Given the description of an element on the screen output the (x, y) to click on. 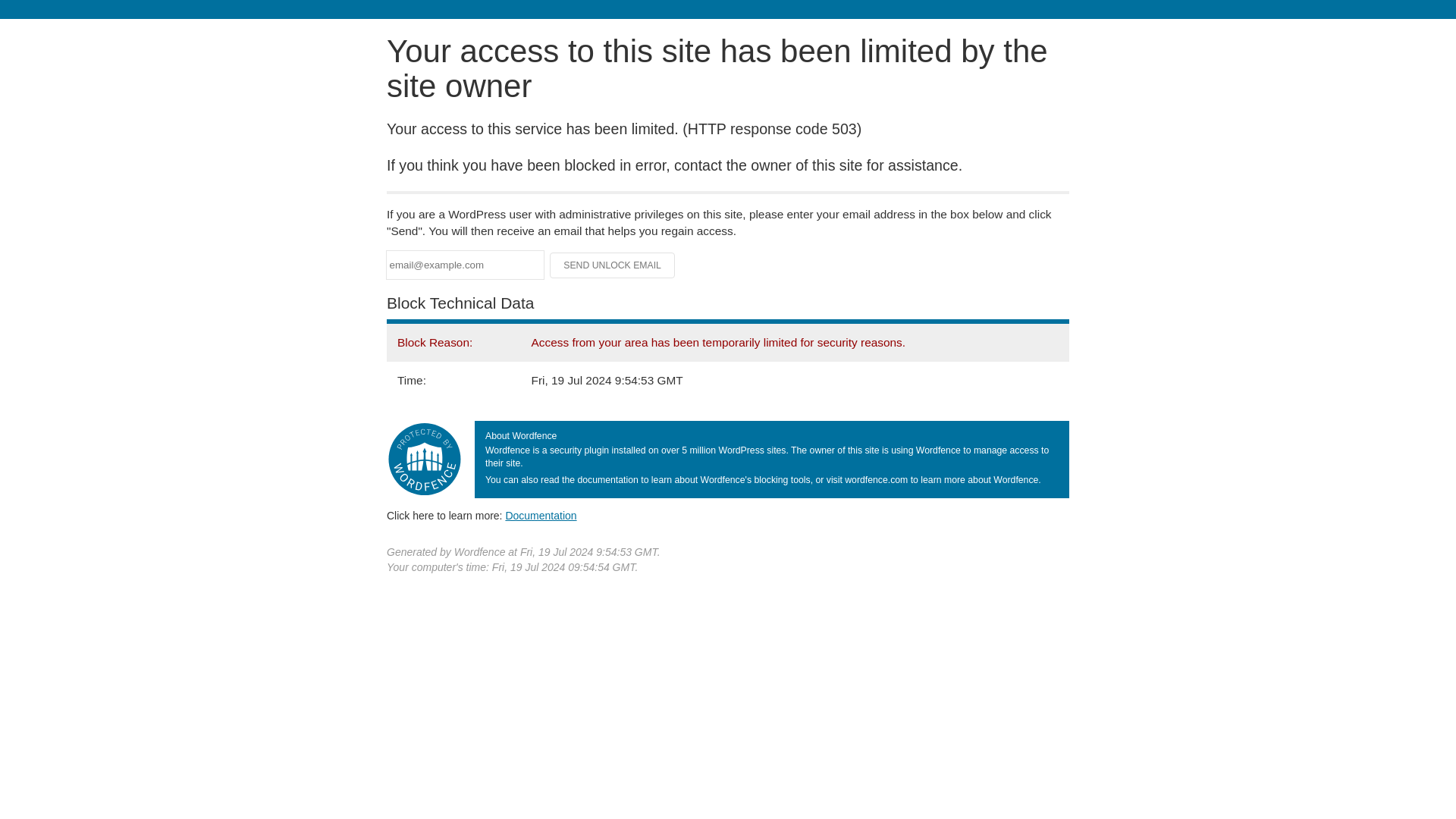
Send Unlock Email (612, 265)
Documentation (540, 515)
Send Unlock Email (612, 265)
